Given the description of an element on the screen output the (x, y) to click on. 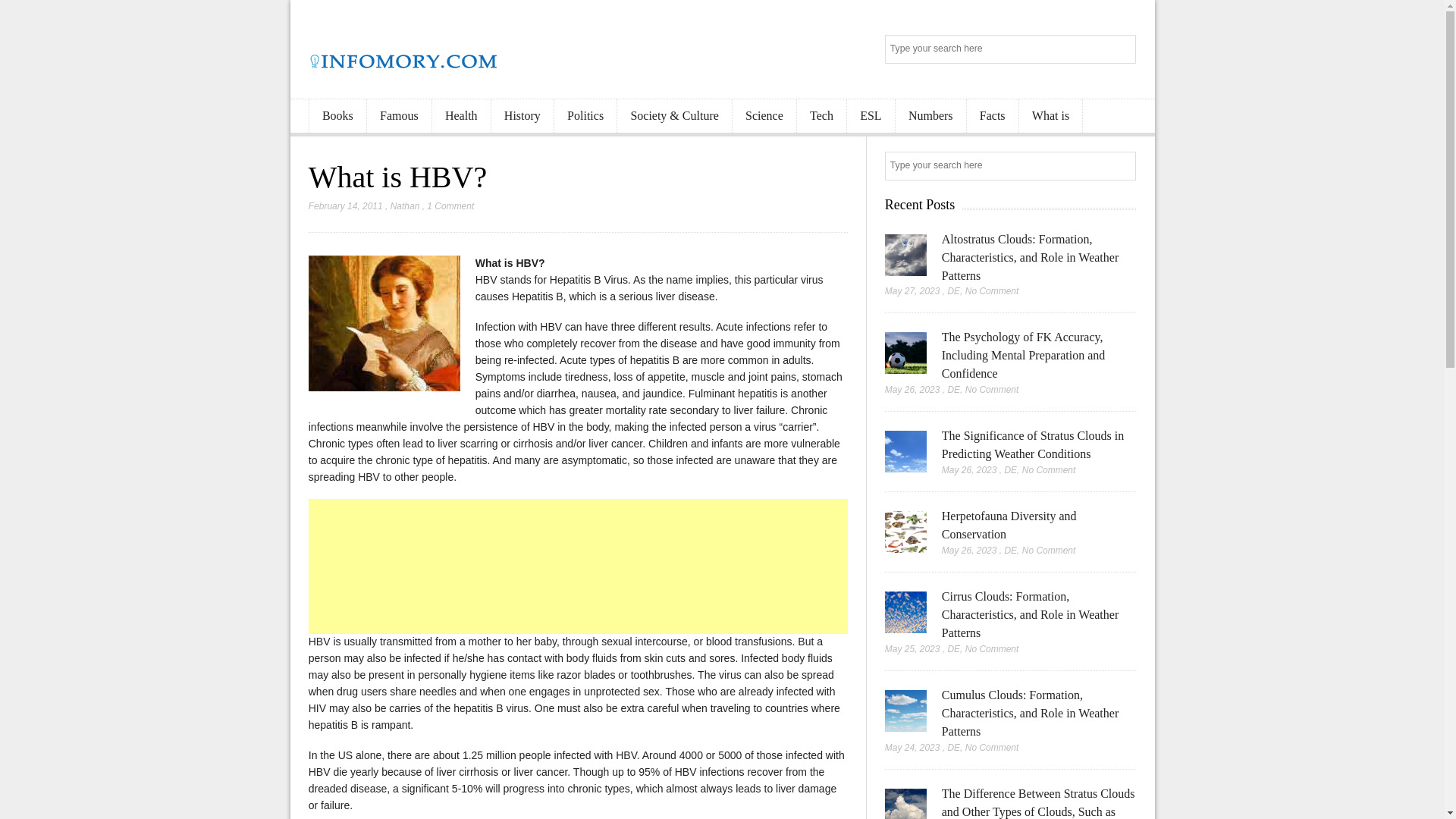
No Comment (992, 290)
Facts (991, 116)
Politics (584, 116)
Advertisement (578, 565)
Science (764, 116)
Posts by DE (953, 290)
Health (461, 116)
History (522, 116)
Numbers (930, 116)
Famous (398, 116)
